Given the description of an element on the screen output the (x, y) to click on. 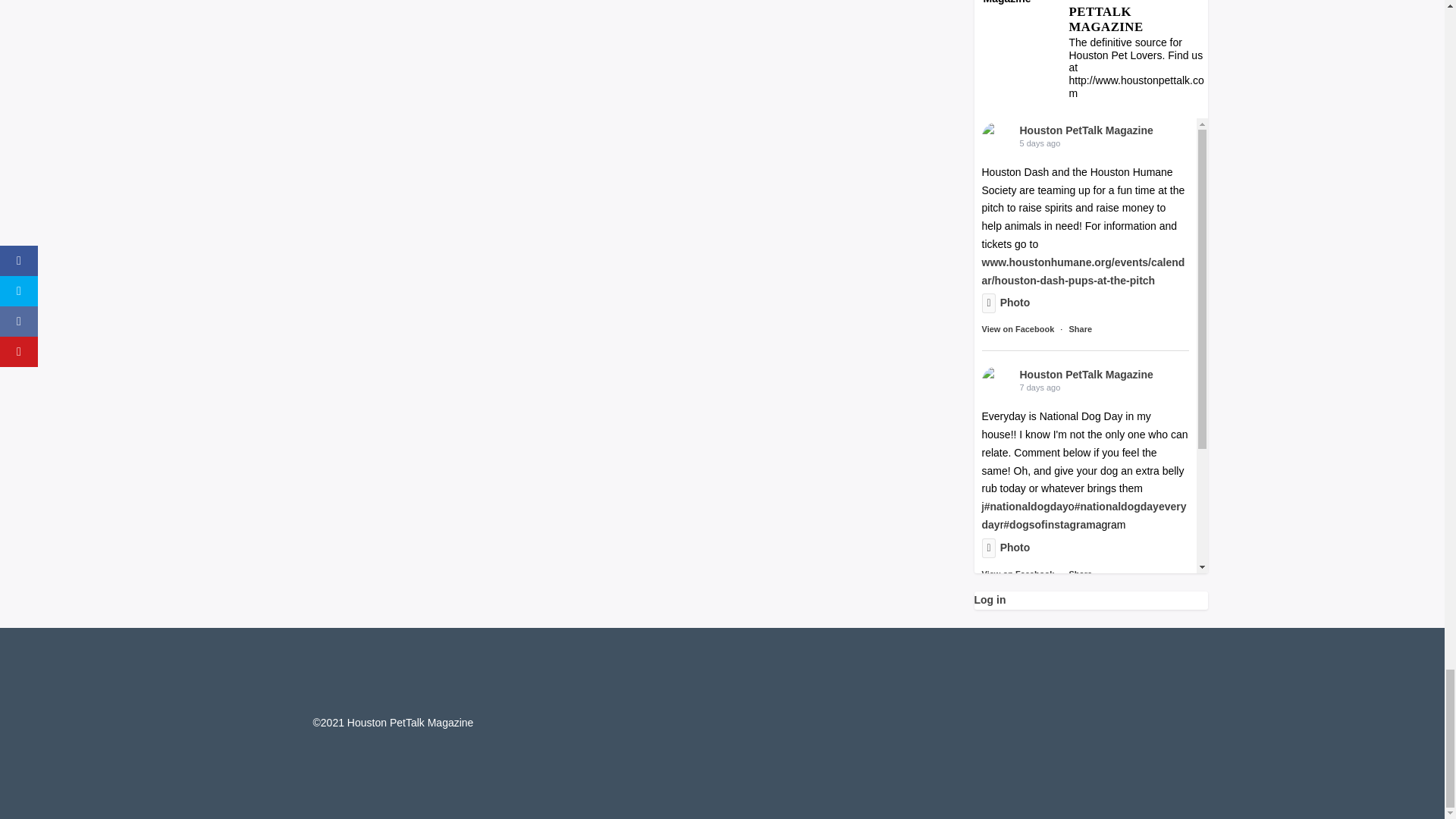
Houston PetTalk Magazine (996, 137)
Houston PetTalk Magazine (1019, 3)
Houston PetTalk Magazine (1138, 18)
